Given the description of an element on the screen output the (x, y) to click on. 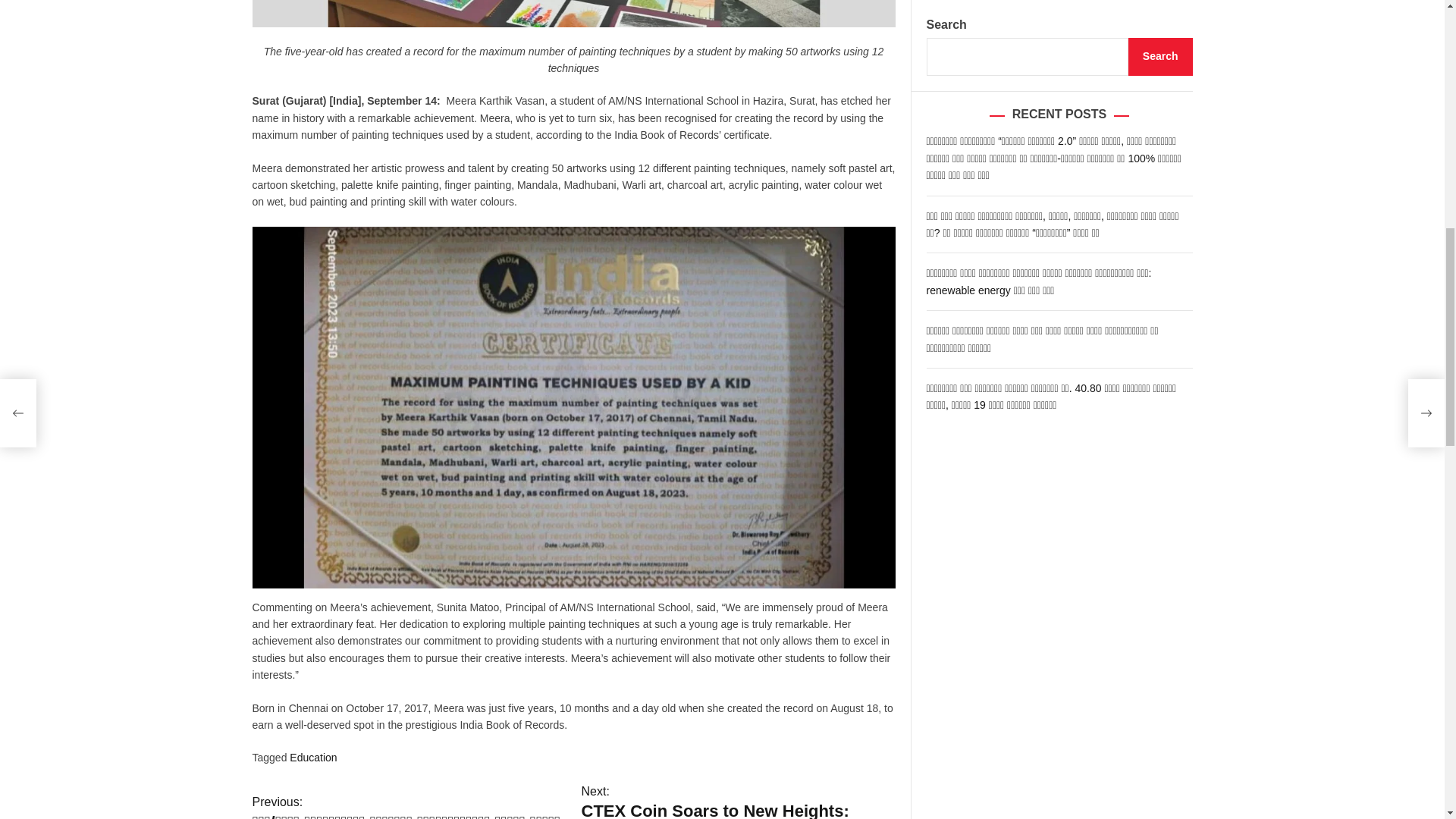
Education (312, 757)
